Given the description of an element on the screen output the (x, y) to click on. 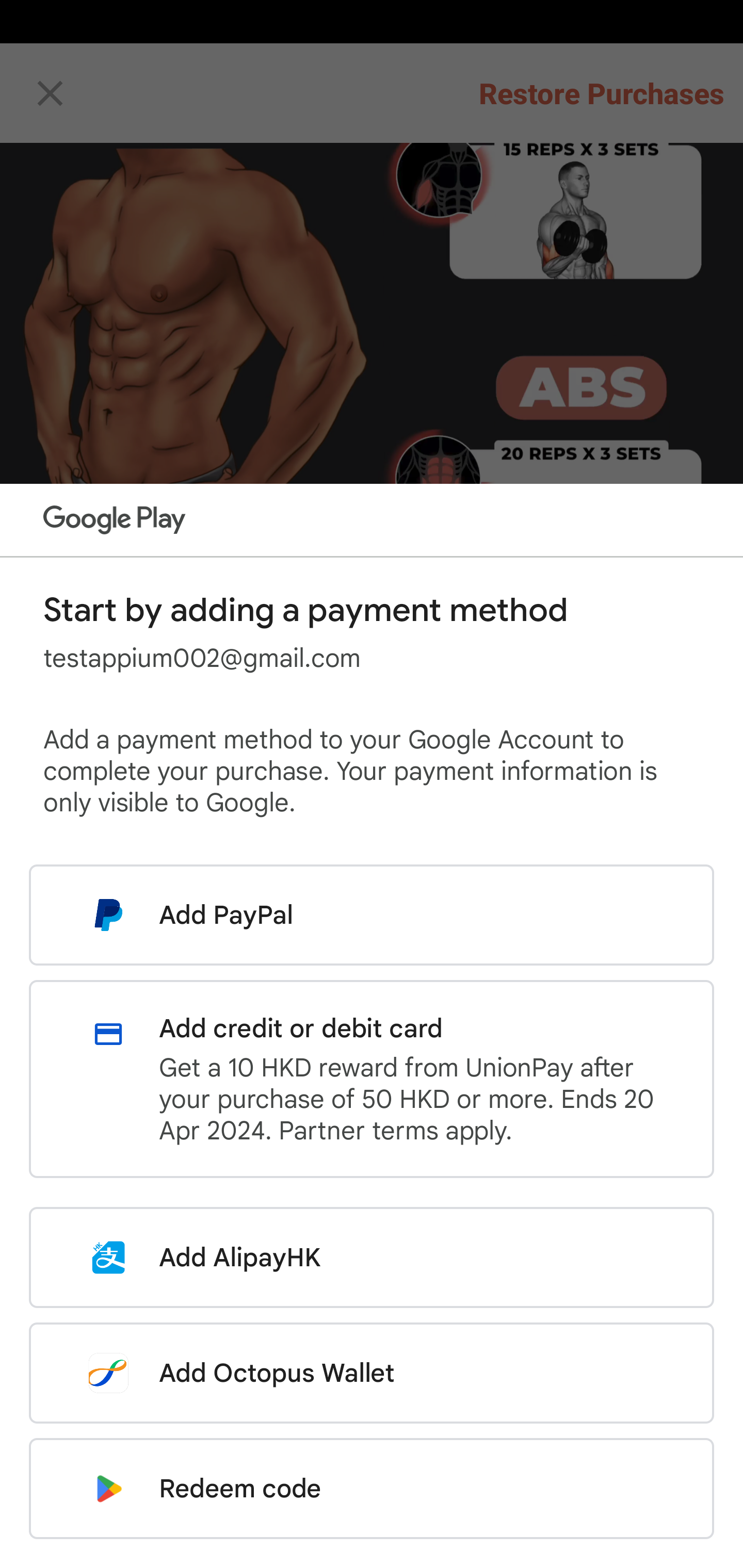
Add PayPal (371, 914)
Add AlipayHK (371, 1257)
Add Octopus Wallet (371, 1372)
Redeem code (371, 1488)
